Given the description of an element on the screen output the (x, y) to click on. 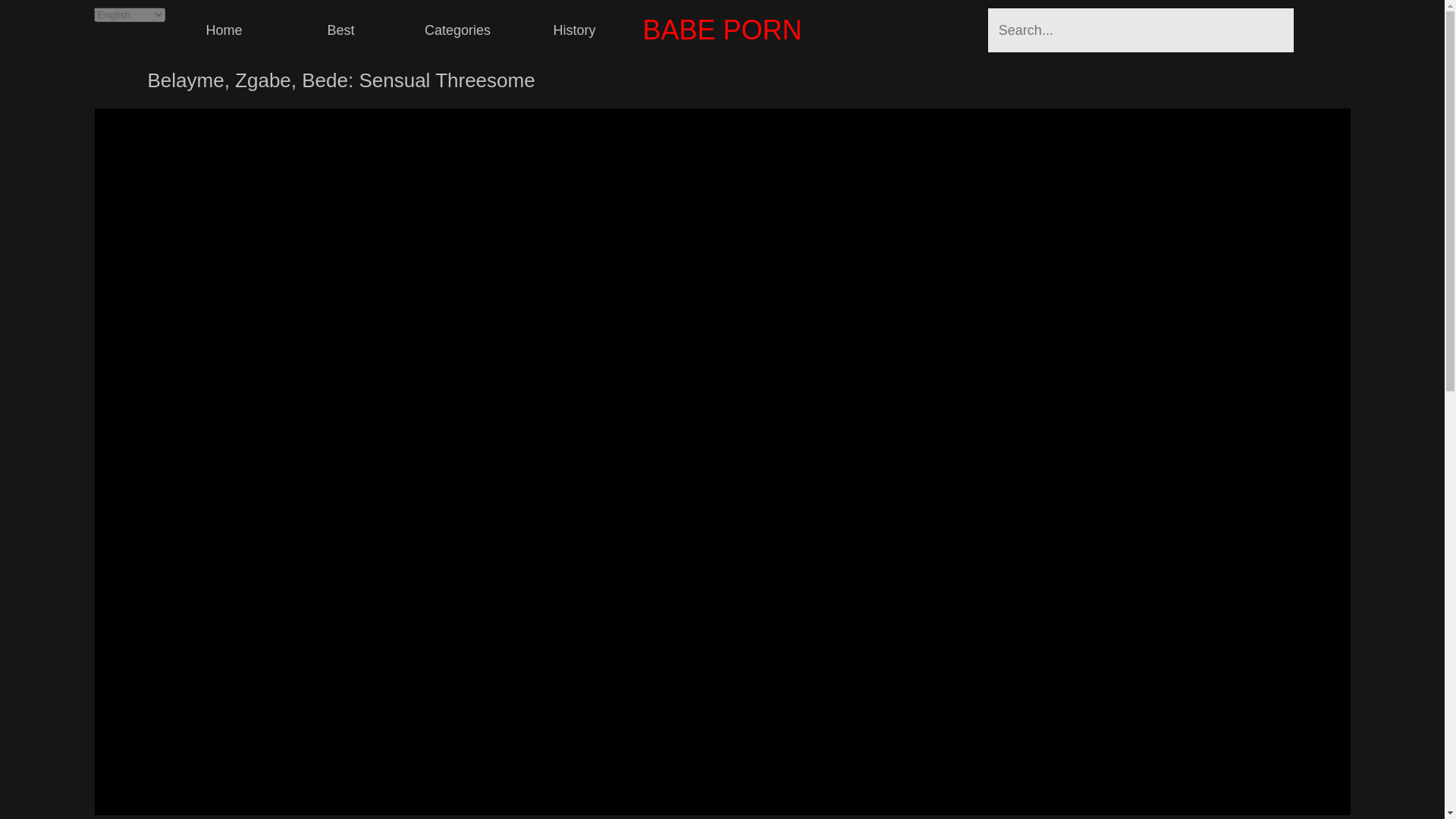
History (573, 30)
Find (1322, 30)
Best (340, 30)
Categories (457, 30)
BABE PORN (722, 30)
Home (224, 30)
